Given the description of an element on the screen output the (x, y) to click on. 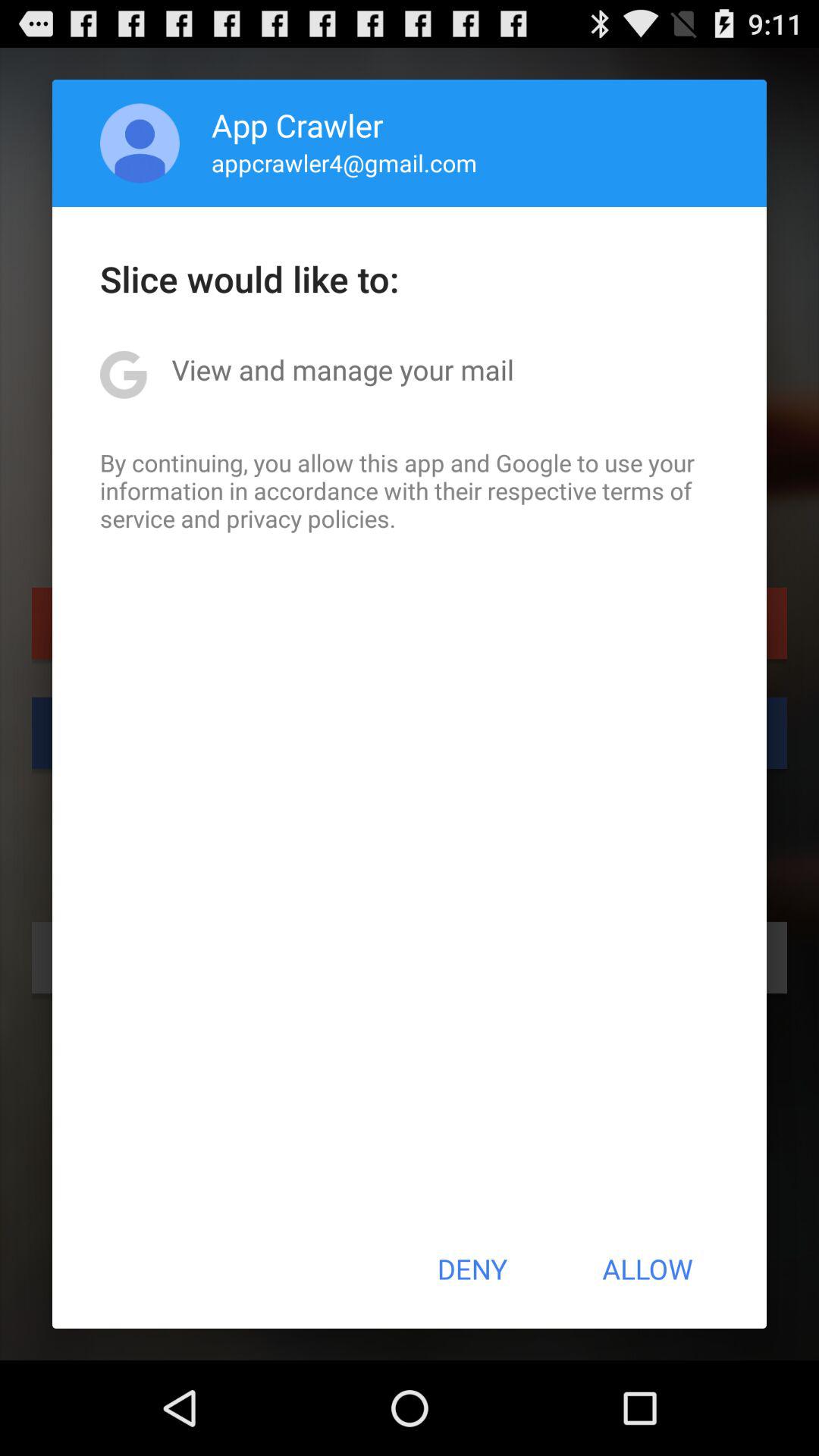
choose view and manage (342, 369)
